Given the description of an element on the screen output the (x, y) to click on. 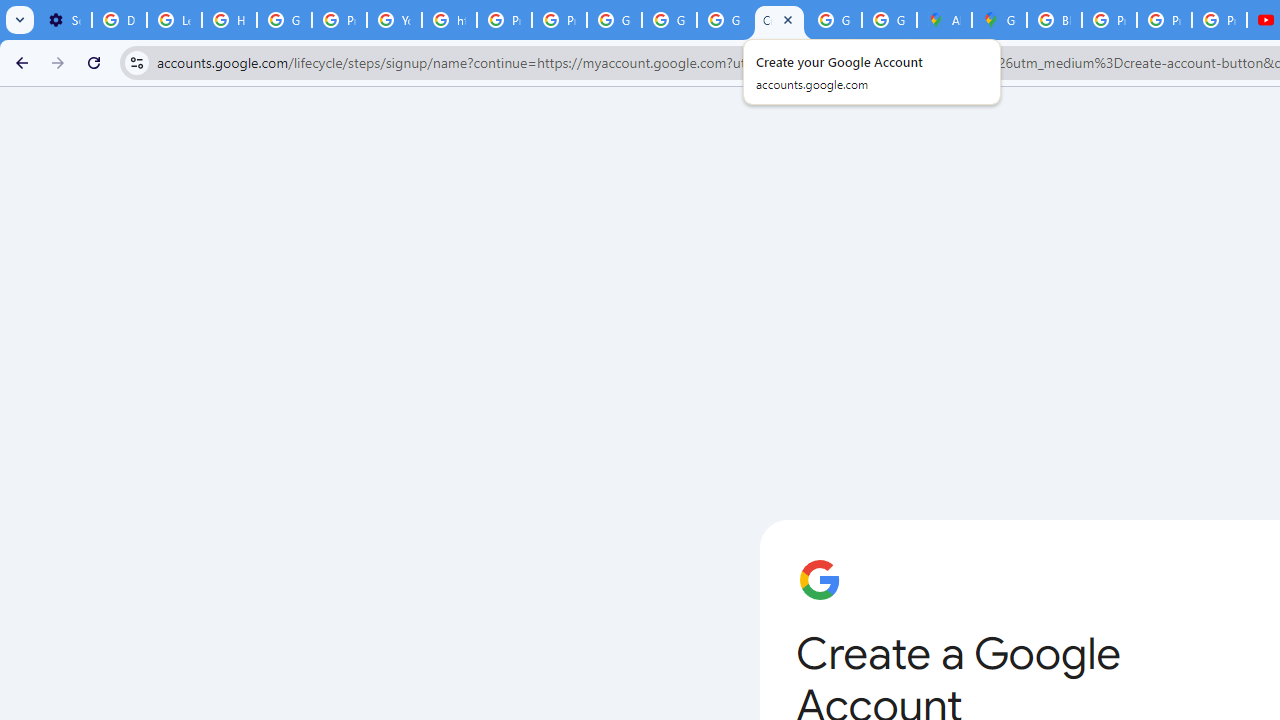
Blogger Policies and Guidelines - Transparency Center (1053, 20)
Learn how to find your photos - Google Photos Help (174, 20)
Google Maps (998, 20)
Privacy Help Center - Policies Help (1163, 20)
Privacy Help Center - Policies Help (339, 20)
Privacy Help Center - Policies Help (504, 20)
